Given the description of an element on the screen output the (x, y) to click on. 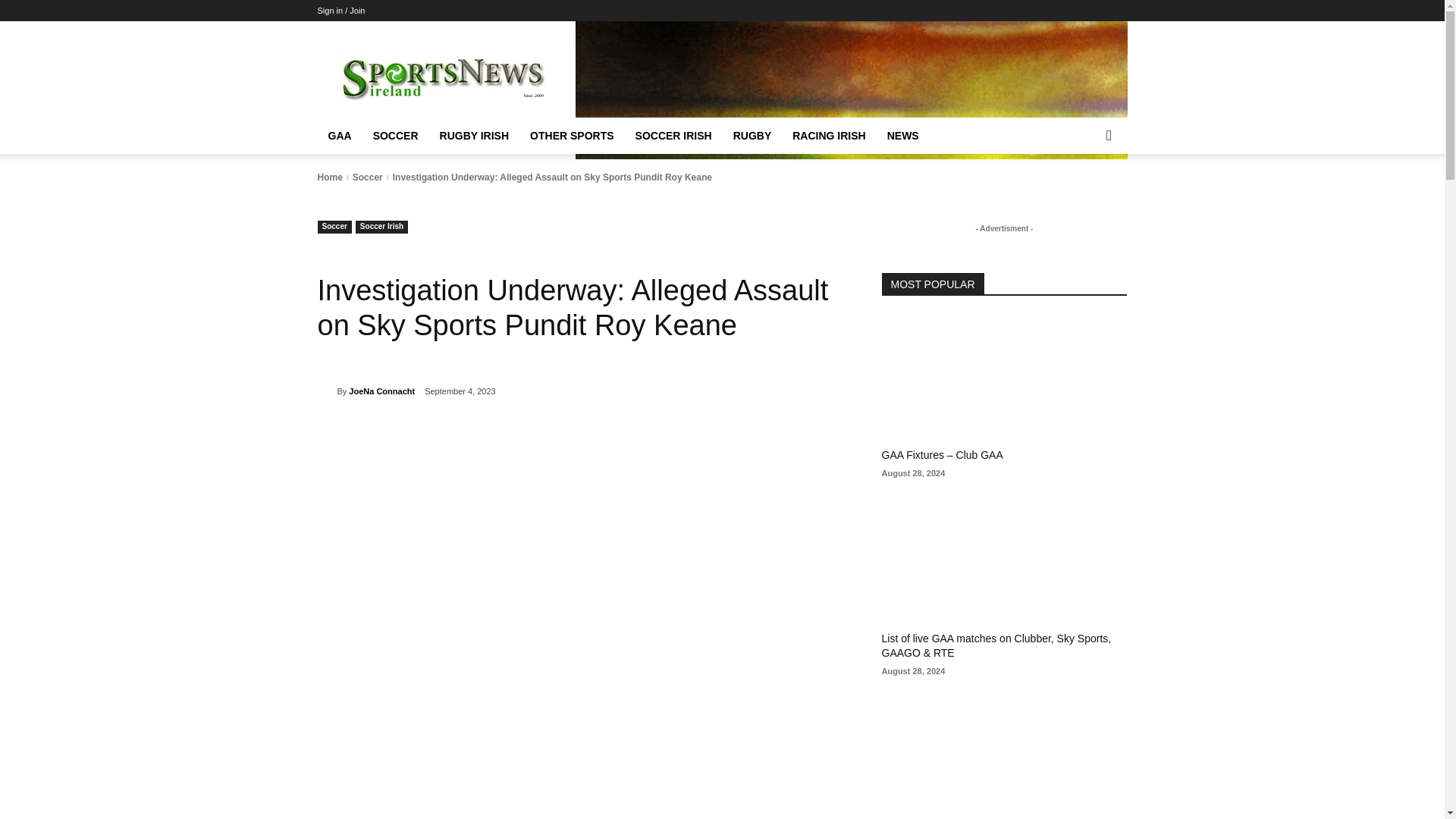
Soccer (333, 226)
GAA (339, 135)
Soccer Irish (381, 226)
Soccer (367, 176)
NEWS (903, 135)
RACING IRISH (828, 135)
SOCCER (395, 135)
Home (329, 176)
View all posts in Soccer (367, 176)
RUGBY (752, 135)
